Given the description of an element on the screen output the (x, y) to click on. 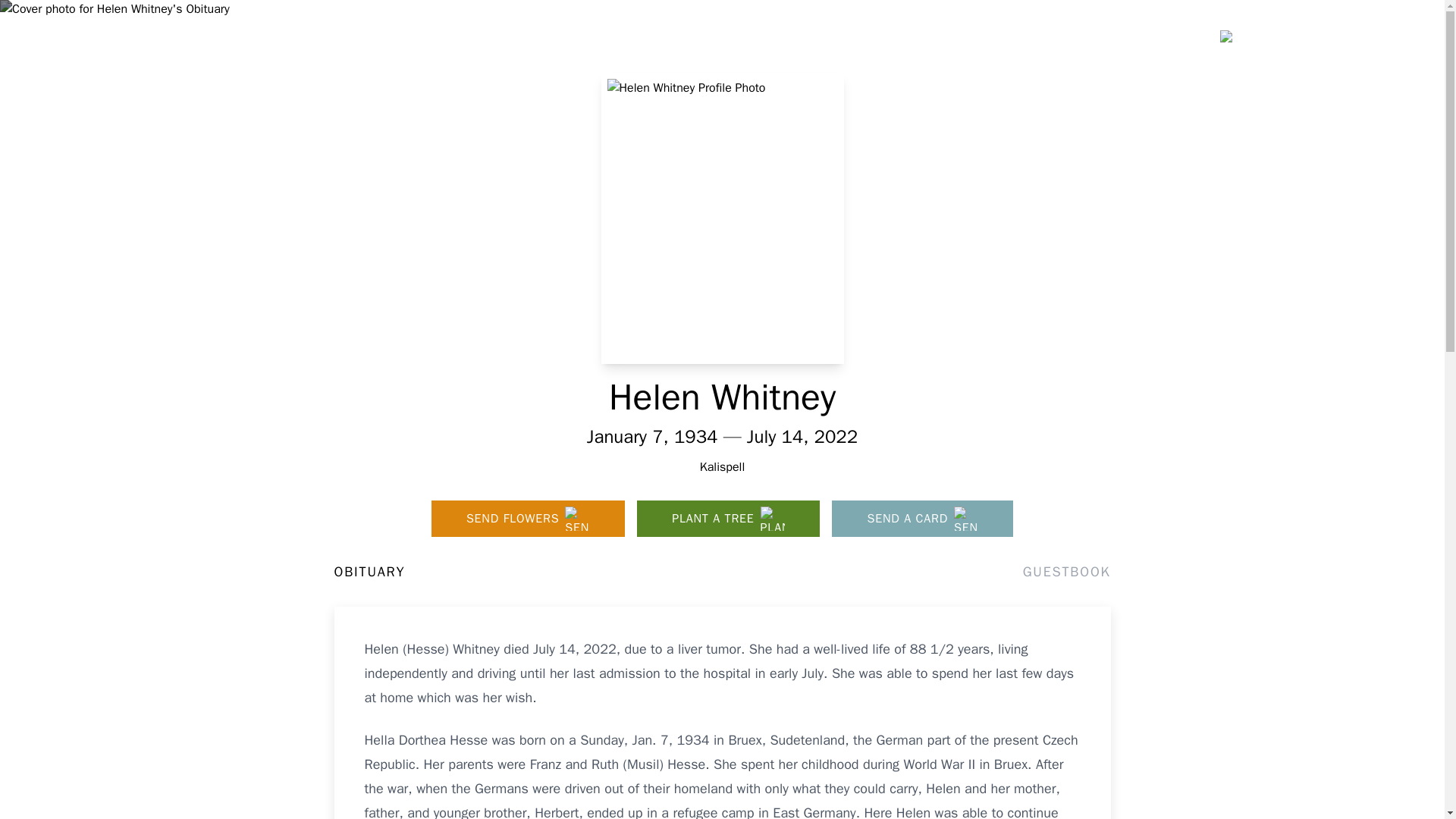
SEND FLOWERS (527, 518)
GUESTBOOK (1066, 571)
SEND A CARD (922, 518)
OBITUARY (368, 571)
PLANT A TREE (728, 518)
